Given the description of an element on the screen output the (x, y) to click on. 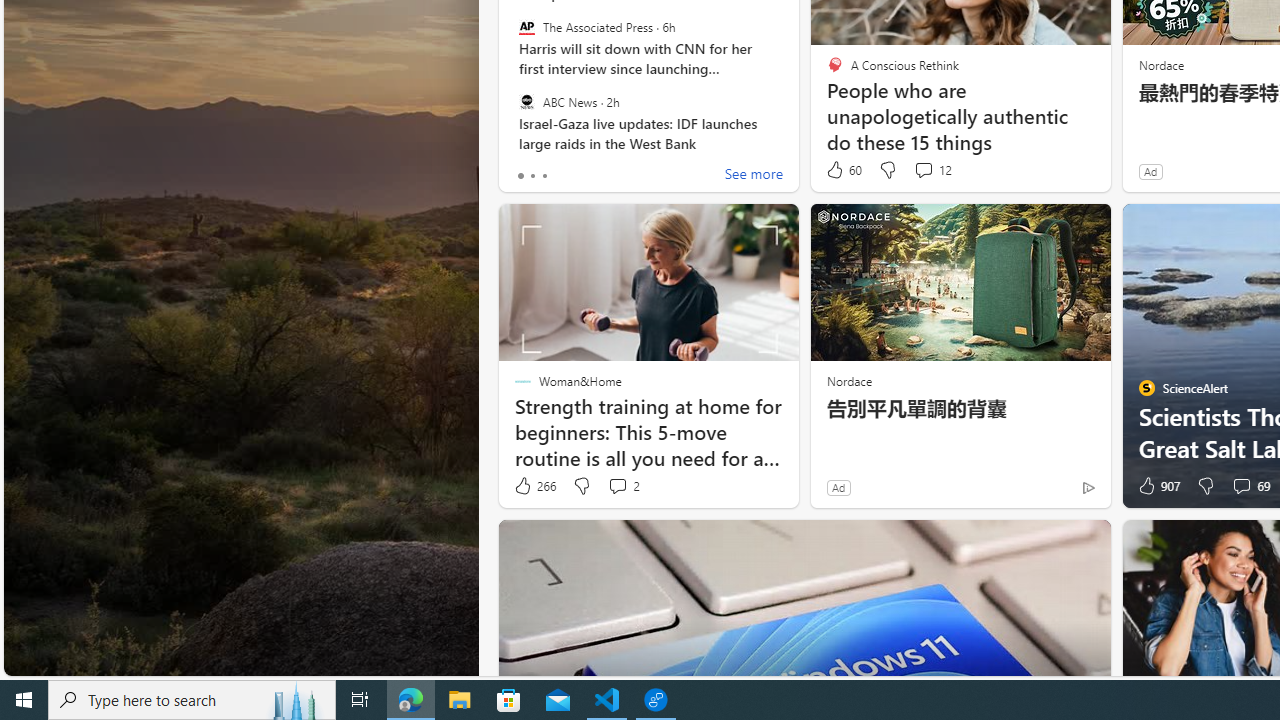
View comments 69 Comment (1241, 485)
266 Like (534, 485)
60 Like (843, 170)
View comments 12 Comment (932, 170)
